Given the description of an element on the screen output the (x, y) to click on. 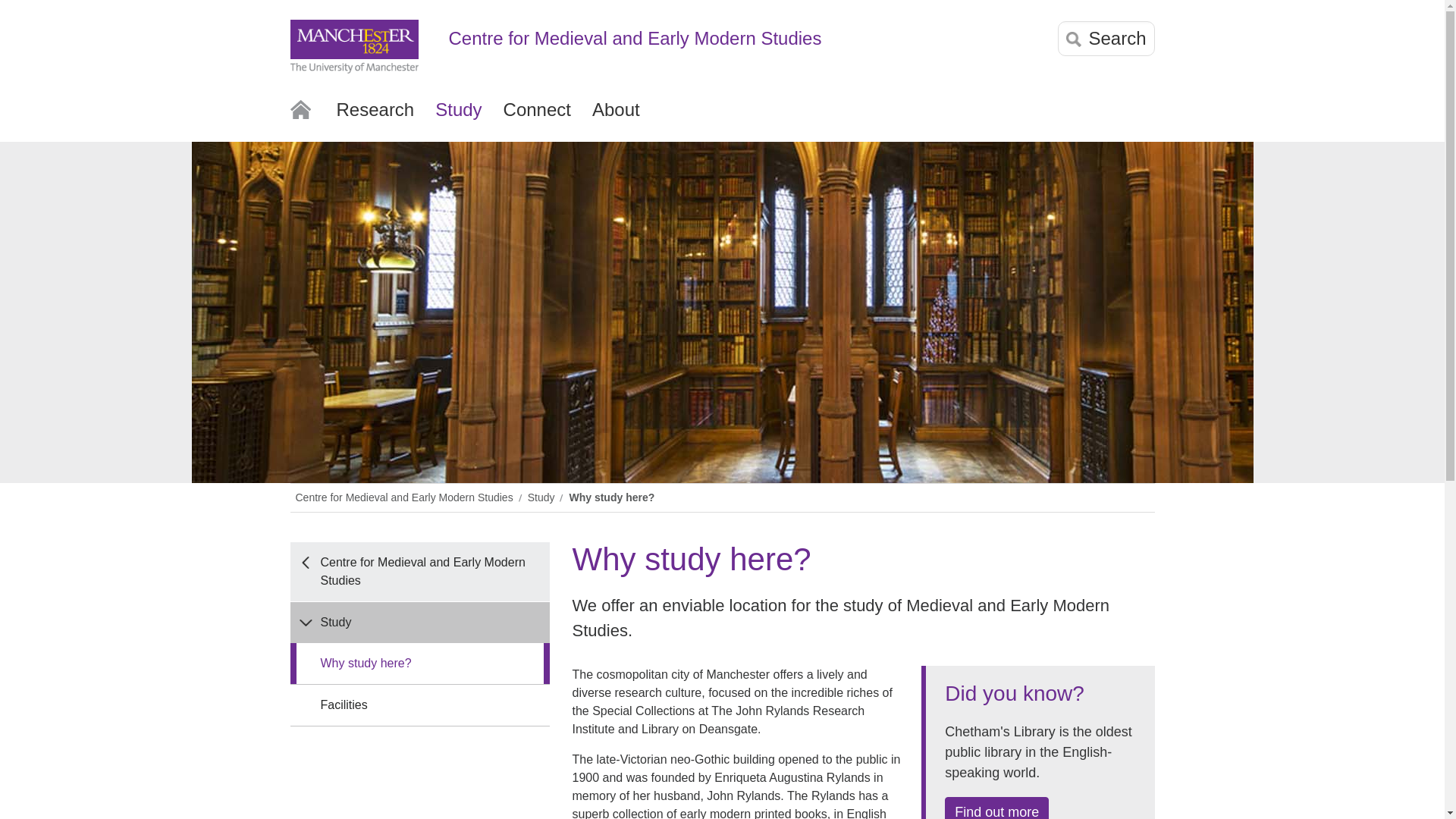
Centre for Medieval and Early Modern Studies (418, 571)
Why study here? (418, 662)
Facilities (418, 704)
Centre for Medieval and Early Modern Studies (736, 38)
About (615, 117)
Study (543, 497)
Research (375, 117)
Study (458, 117)
Why study here? (613, 497)
Connect (536, 117)
